Given the description of an element on the screen output the (x, y) to click on. 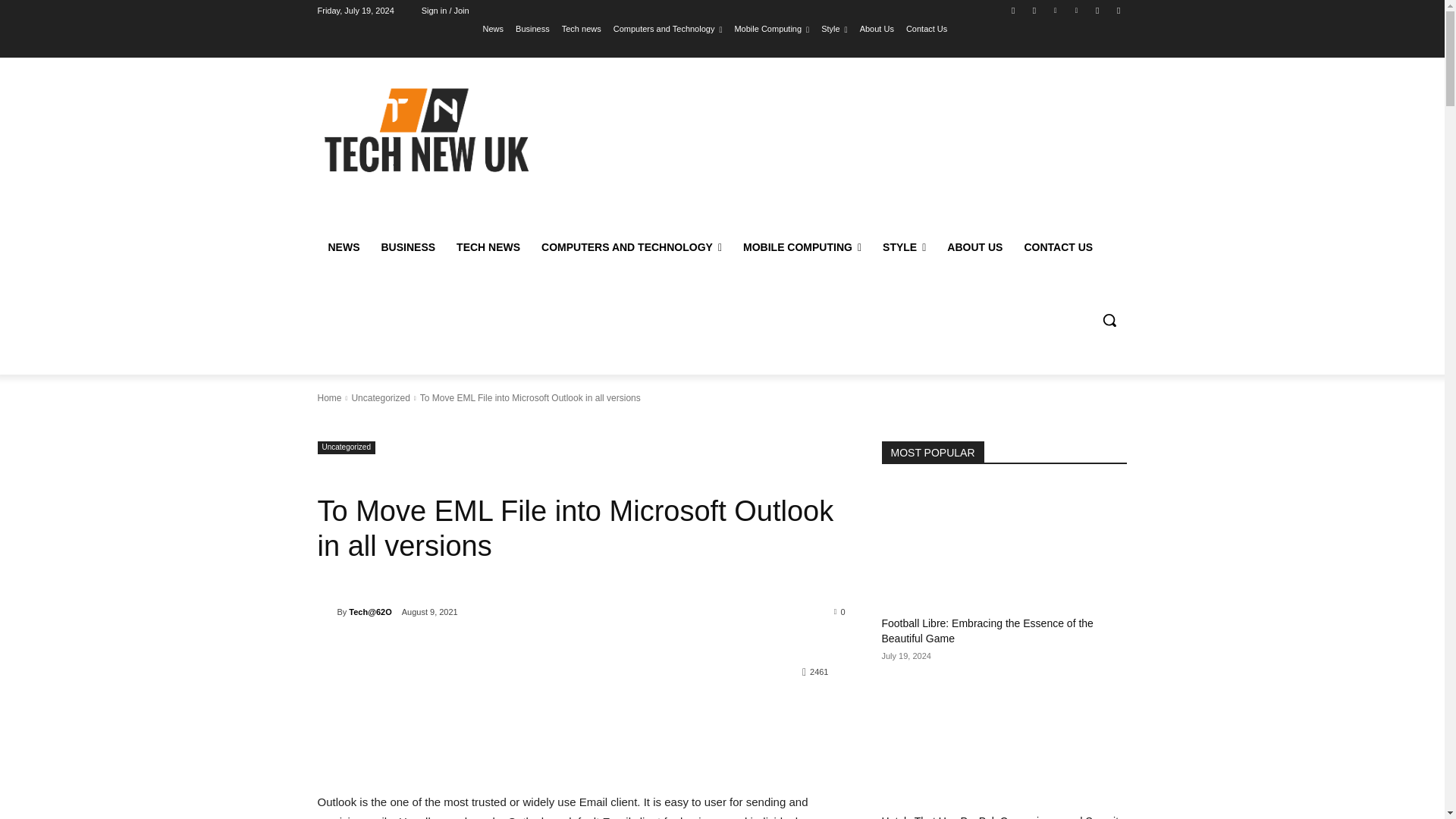
Facebook (1013, 9)
Youtube (1117, 9)
Pinterest (1075, 9)
Mobile Computing (771, 28)
Twitter (1097, 9)
View all posts in Uncategorized (379, 398)
Contact Us (926, 28)
Instagram (1034, 9)
Computers and Technology (667, 28)
About Us (876, 28)
Linkedin (1055, 9)
Tech news (581, 28)
News (493, 28)
Style (834, 28)
Business (532, 28)
